Given the description of an element on the screen output the (x, y) to click on. 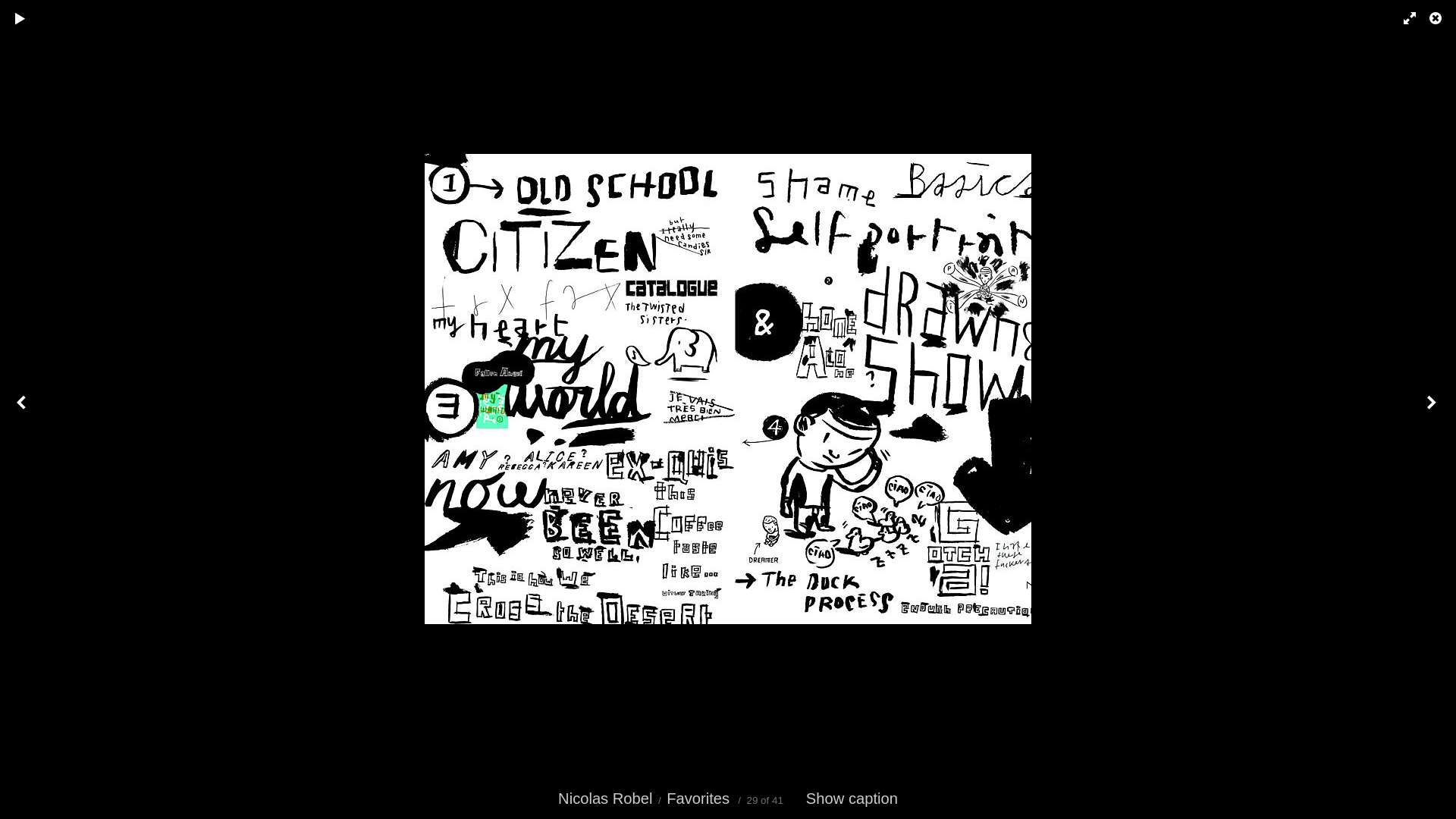
View fullscreen Element type: hover (1402, 18)
Start slideshow Element type: hover (20, 18)
Show caption Element type: text (851, 798)
Favorites Element type: text (697, 798)
View previous Element type: hover (22, 409)
Nicolas Robel Element type: text (605, 798)
